Given the description of an element on the screen output the (x, y) to click on. 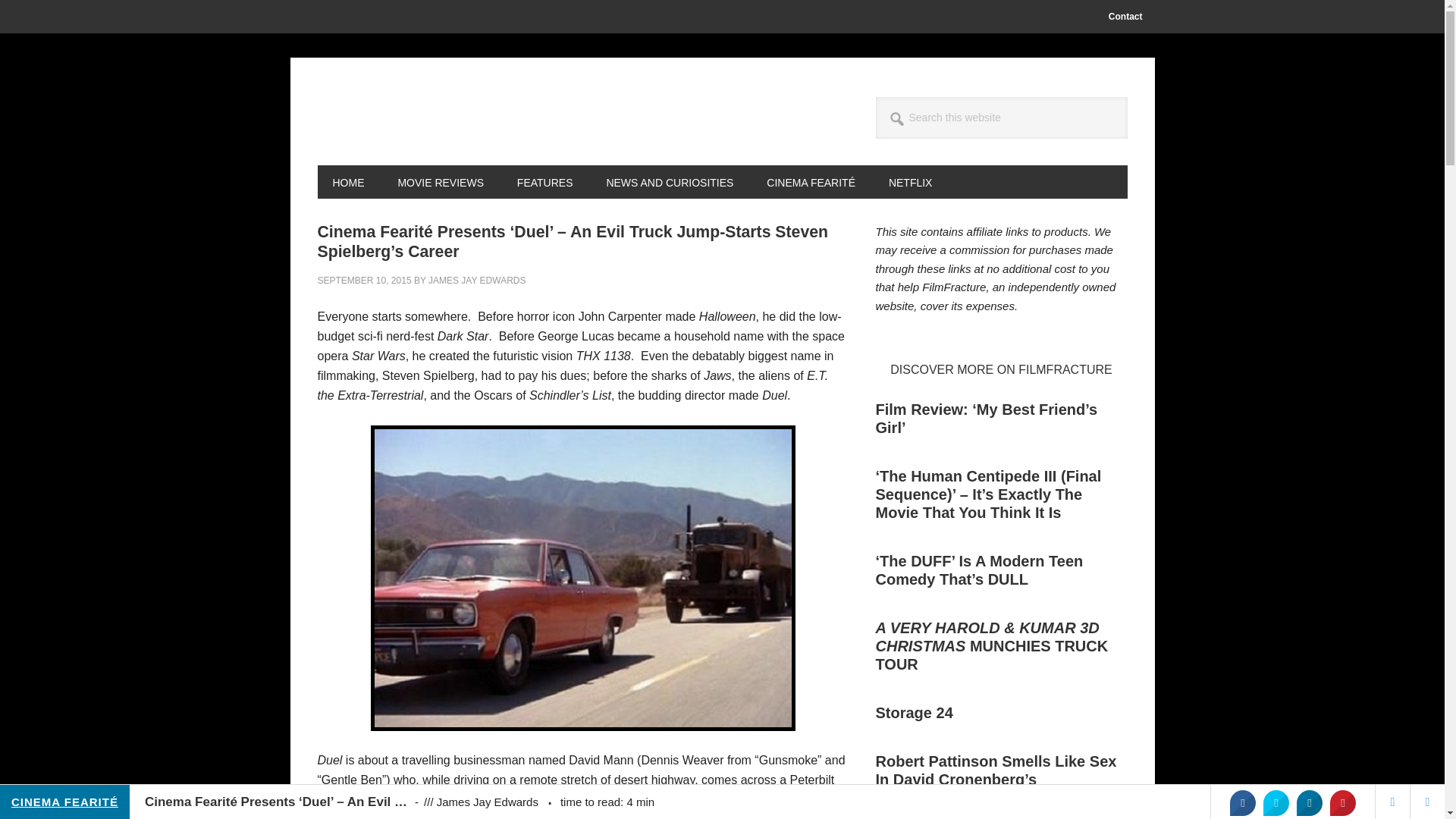
Share on Pinterest (1342, 802)
Share on Facebook (1242, 802)
Share on Twitter (1275, 802)
NEWS AND CURIOSITIES (669, 182)
Share on Linkedin (1309, 802)
Duel (581, 578)
FEATURES (545, 182)
HOME (347, 182)
